Given the description of an element on the screen output the (x, y) to click on. 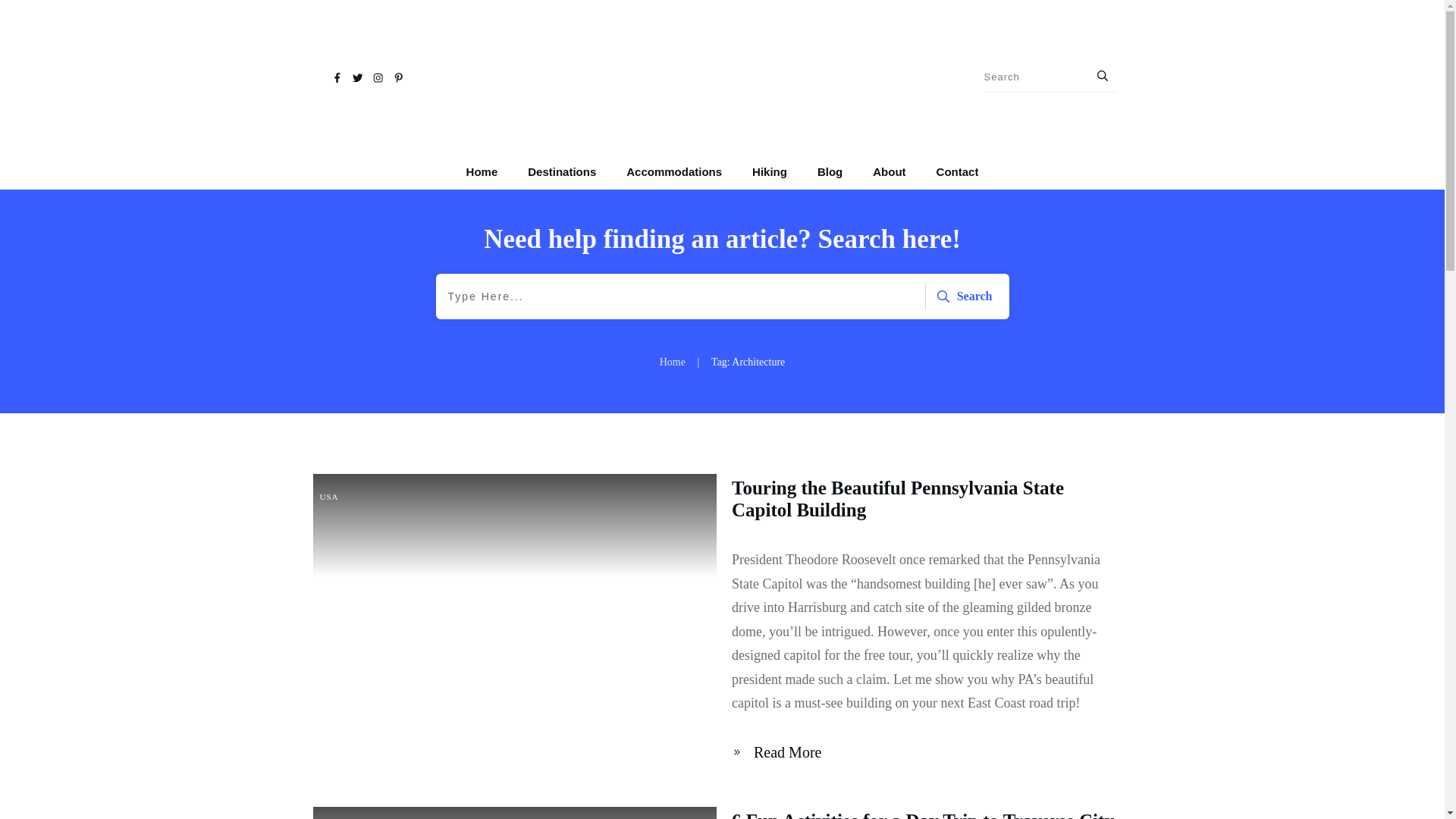
Touring the Beautiful Pennsylvania State Capitol Building (898, 498)
Contact (957, 171)
Read More (780, 752)
USA (329, 496)
Destinations (561, 171)
Accommodations (674, 171)
USA (329, 496)
Blog (829, 171)
Home (481, 171)
Hiking (769, 171)
6 Fun Activities for a Day Trip to Traverse City, Michigan (925, 814)
Home (672, 362)
Search (962, 296)
6 Fun Activities for a Day Trip to Traverse City, Michigan (925, 814)
